Given the description of an element on the screen output the (x, y) to click on. 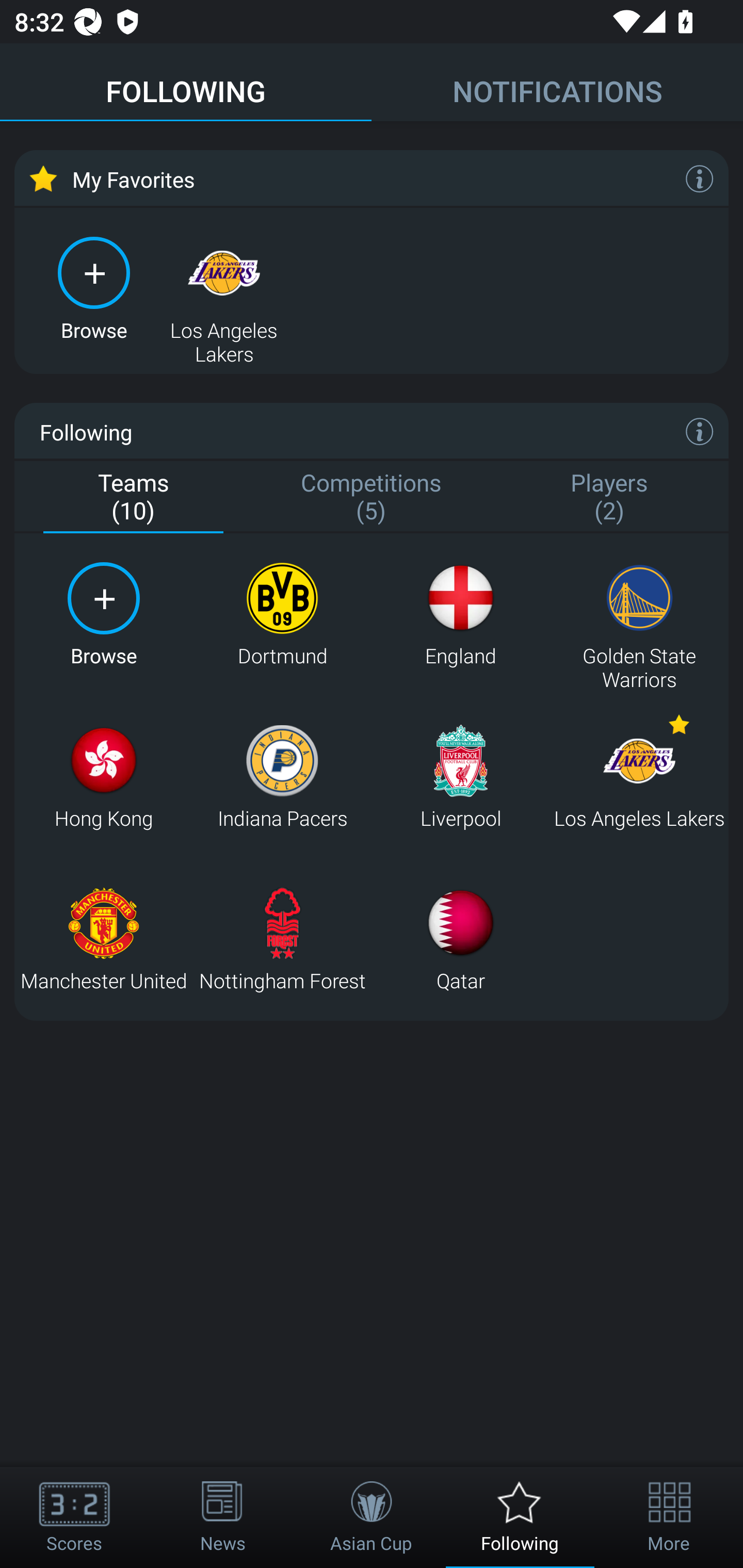
FOLLOWING (185, 81)
NOTIFICATIONS (557, 81)
Browse (93, 287)
Los Angeles Lakers (224, 287)
Competitions
(5) (371, 496)
Players
(2) (609, 496)
Browse (103, 614)
Dortmund (282, 614)
England (460, 614)
Golden State Warriors (638, 614)
Hong Kong (103, 776)
Indiana Pacers (282, 776)
Liverpool (460, 776)
Los Angeles Lakers (638, 776)
Manchester United (103, 938)
Nottingham Forest (282, 938)
Qatar (460, 938)
Scores (74, 1517)
News (222, 1517)
Asian Cup (371, 1517)
More (668, 1517)
